Given the description of an element on the screen output the (x, y) to click on. 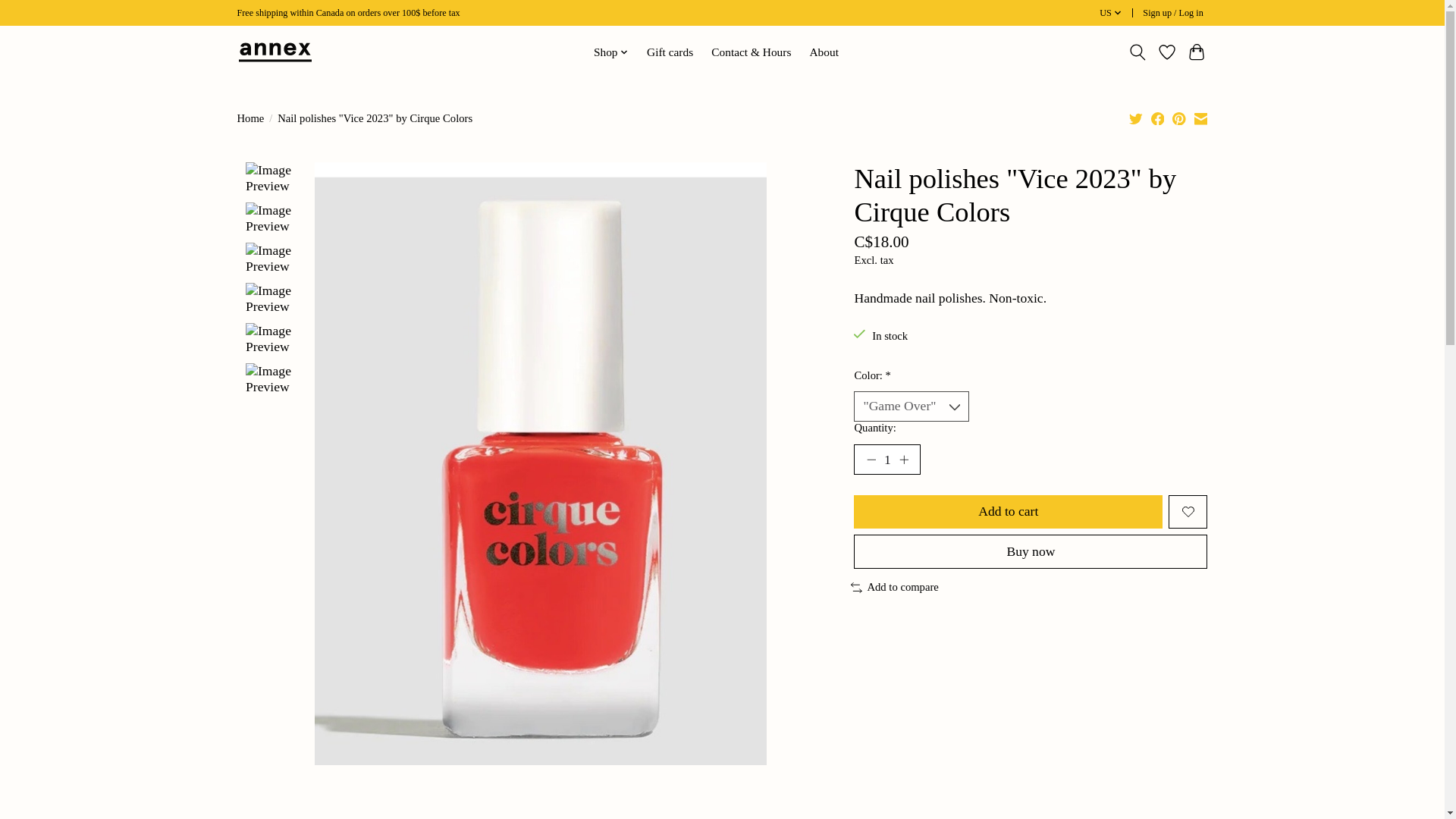
Share on Twitter (1135, 118)
Share on Pinterest (1178, 118)
Share on Facebook (1157, 118)
Shop (611, 52)
Annex Vintage (274, 51)
US (1109, 13)
Share by Email (1200, 118)
1 (886, 459)
My account (1173, 13)
